Given the description of an element on the screen output the (x, y) to click on. 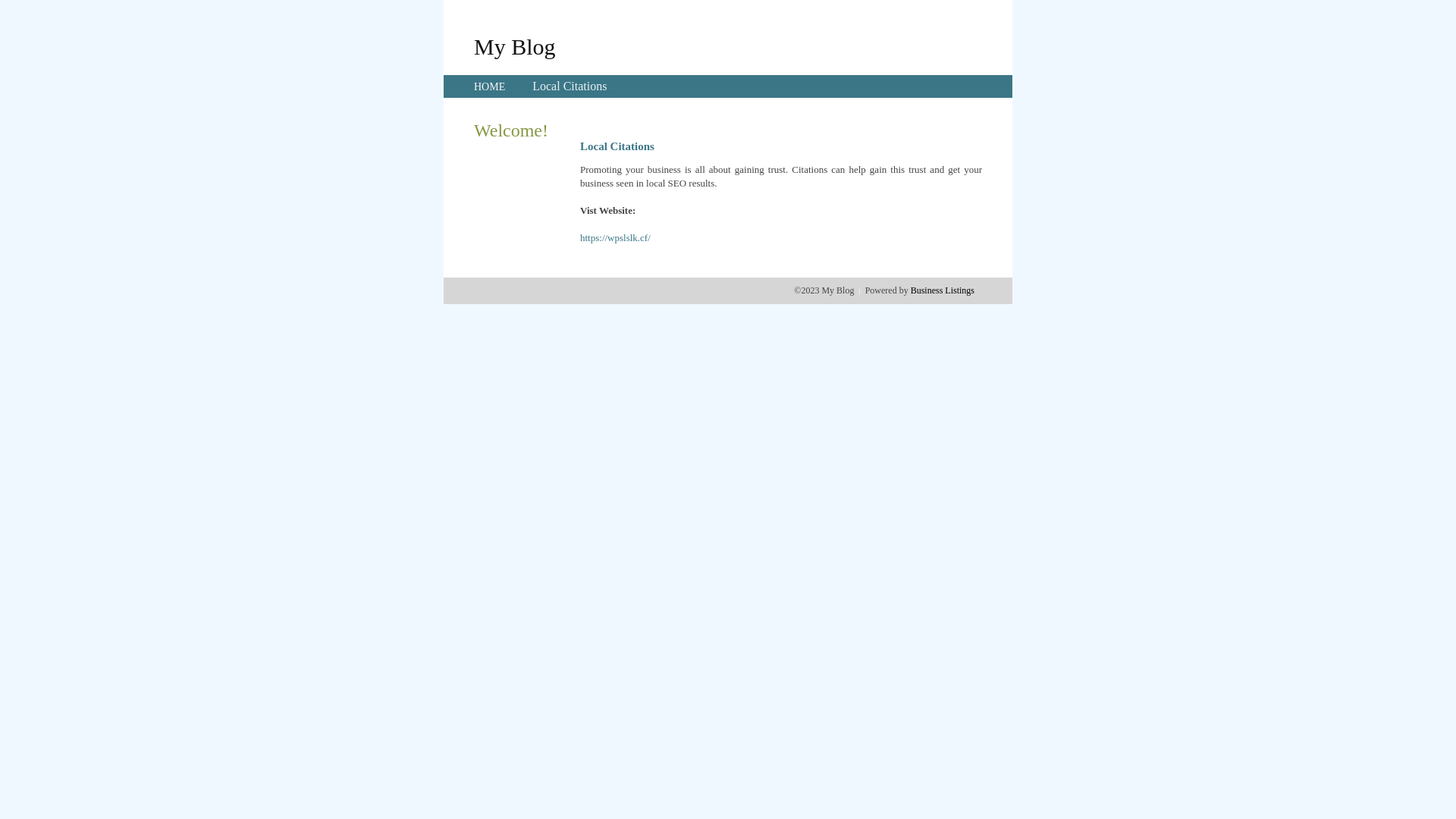
https://wpslslk.cf/ Element type: text (615, 237)
Local Citations Element type: text (569, 85)
HOME Element type: text (489, 86)
Business Listings Element type: text (942, 290)
My Blog Element type: text (514, 46)
